Given the description of an element on the screen output the (x, y) to click on. 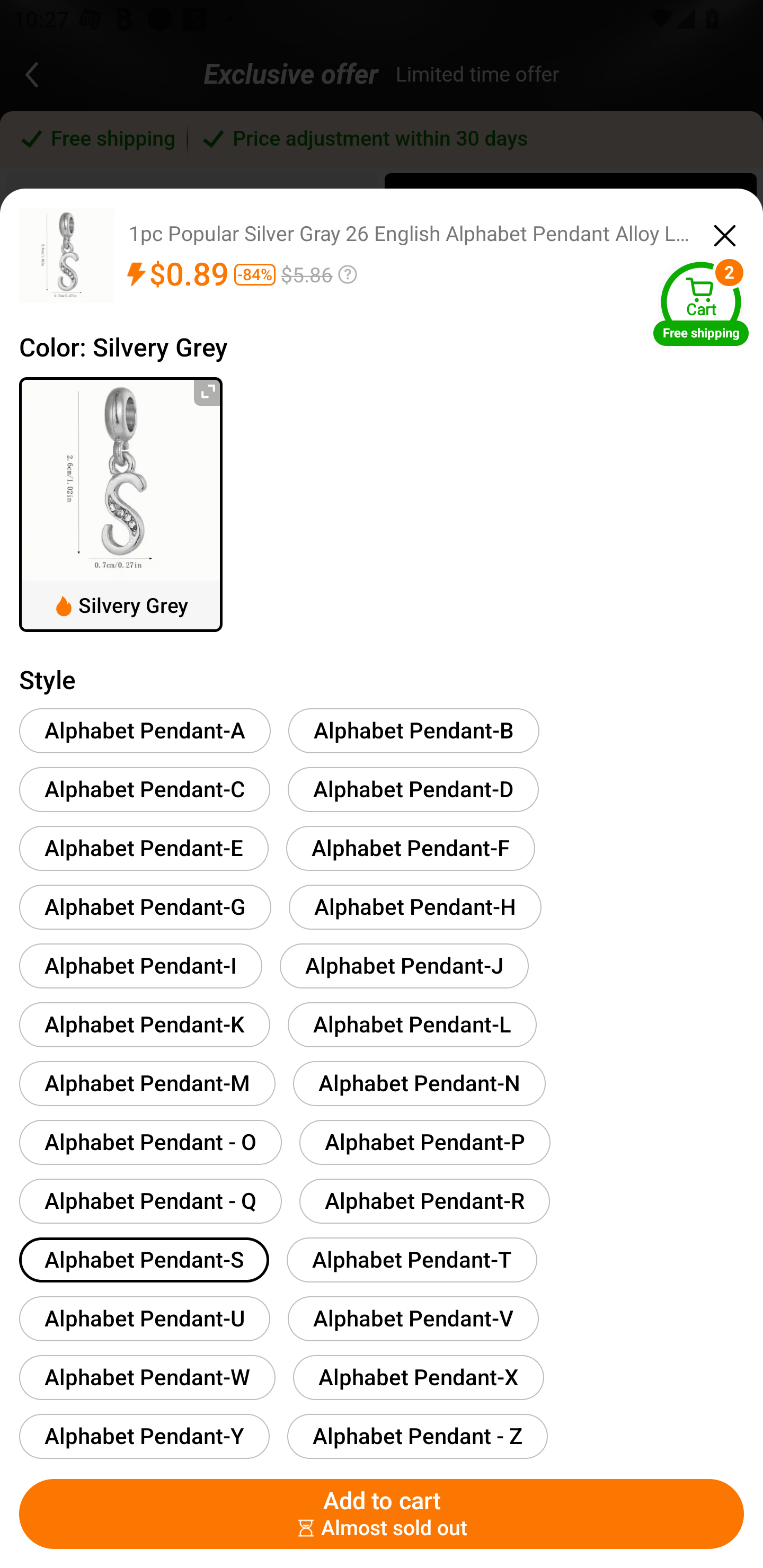
close (724, 232)
Cart Free shipping Cart (701, 303)
Silvery Grey ￼Silvery Grey (120, 504)
 Alphabet Pendant-A (144, 730)
 Alphabet Pendant-B (413, 730)
 Alphabet Pendant-C (144, 789)
 Alphabet Pendant-D (412, 789)
 Alphabet Pendant-E (143, 848)
 Alphabet Pendant-F (410, 848)
 Alphabet Pendant-G (145, 906)
 Alphabet Pendant-H (414, 906)
 Alphabet Pendant-I (140, 965)
 Alphabet Pendant-J (404, 965)
 Alphabet Pendant-K (144, 1024)
 Alphabet Pendant-L (411, 1024)
 Alphabet Pendant-M (147, 1083)
 Alphabet Pendant-N (418, 1083)
 Alphabet Pendant - O (150, 1142)
 Alphabet Pendant-P (424, 1142)
 Alphabet Pendant - Q (150, 1201)
 Alphabet Pendant-R (424, 1201)
 Alphabet Pendant-S (144, 1259)
 Alphabet Pendant-T (411, 1259)
 Alphabet Pendant-U (144, 1318)
 Alphabet Pendant-V (412, 1318)
 Alphabet Pendant-W (147, 1377)
 Alphabet Pendant-X (418, 1377)
 Alphabet Pendant-Y (144, 1436)
 Alphabet Pendant - Z (416, 1436)
Add to cart ￼￼Almost sold out (381, 1513)
